Given the description of an element on the screen output the (x, y) to click on. 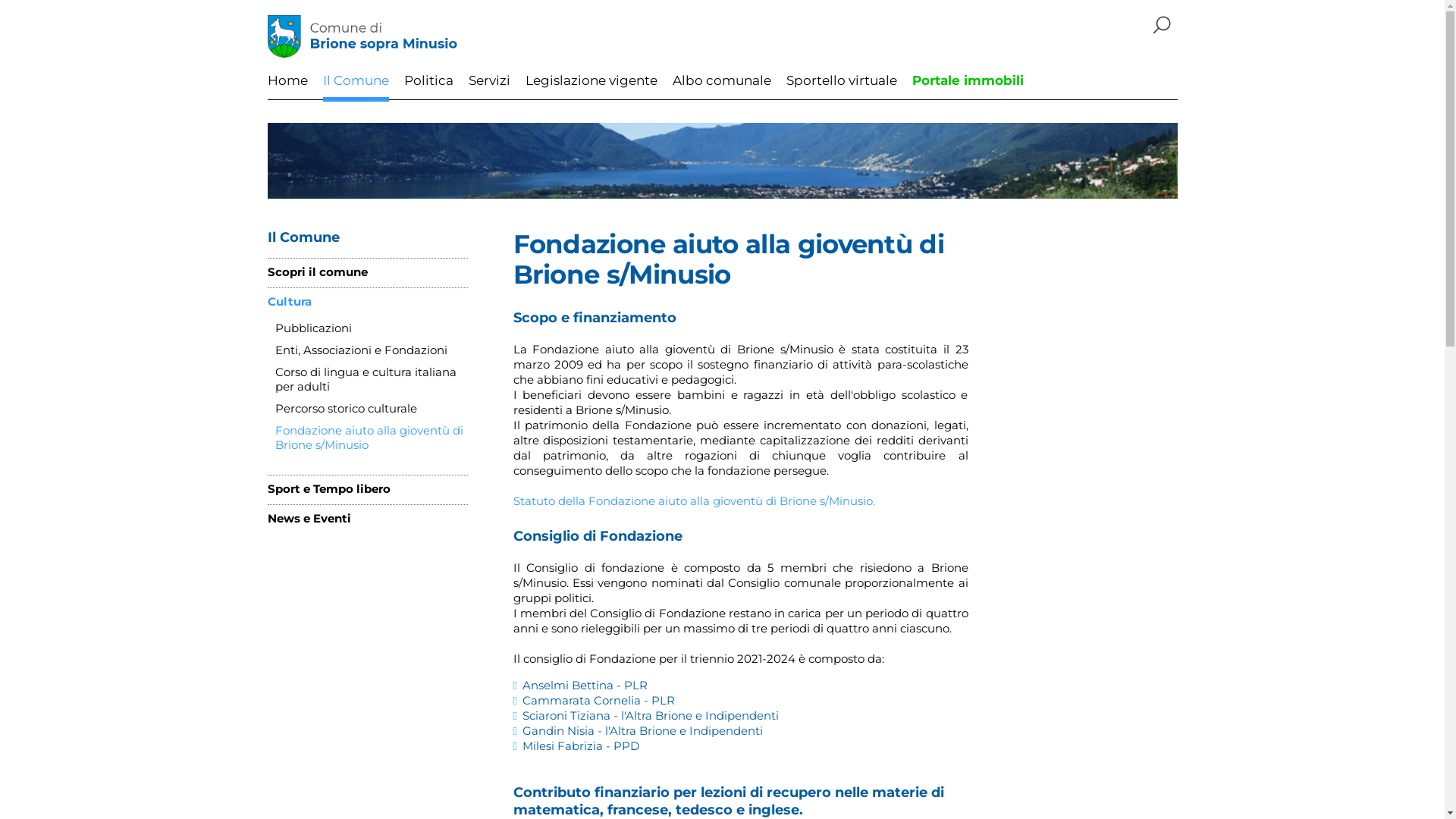
Corso di lingua e cultura italiana per adulti Element type: text (370, 378)
Servizi Element type: text (489, 86)
Legislazione vigente Element type: text (590, 86)
Scopri il comune Element type: text (316, 271)
Percorso storico culturale Element type: text (345, 408)
Pubblicazioni Element type: text (312, 327)
Portale immobili Element type: text (966, 86)
News e Eventi Element type: text (308, 518)
Sportello virtuale Element type: text (840, 86)
Sport e Tempo libero Element type: text (327, 488)
Il Comune Element type: text (356, 86)
Cultura Element type: text (288, 301)
Enti, Associazioni e Fondazioni Element type: text (360, 349)
Albo comunale Element type: text (720, 86)
Politica Element type: text (427, 86)
Home Element type: text (286, 86)
